Given the description of an element on the screen output the (x, y) to click on. 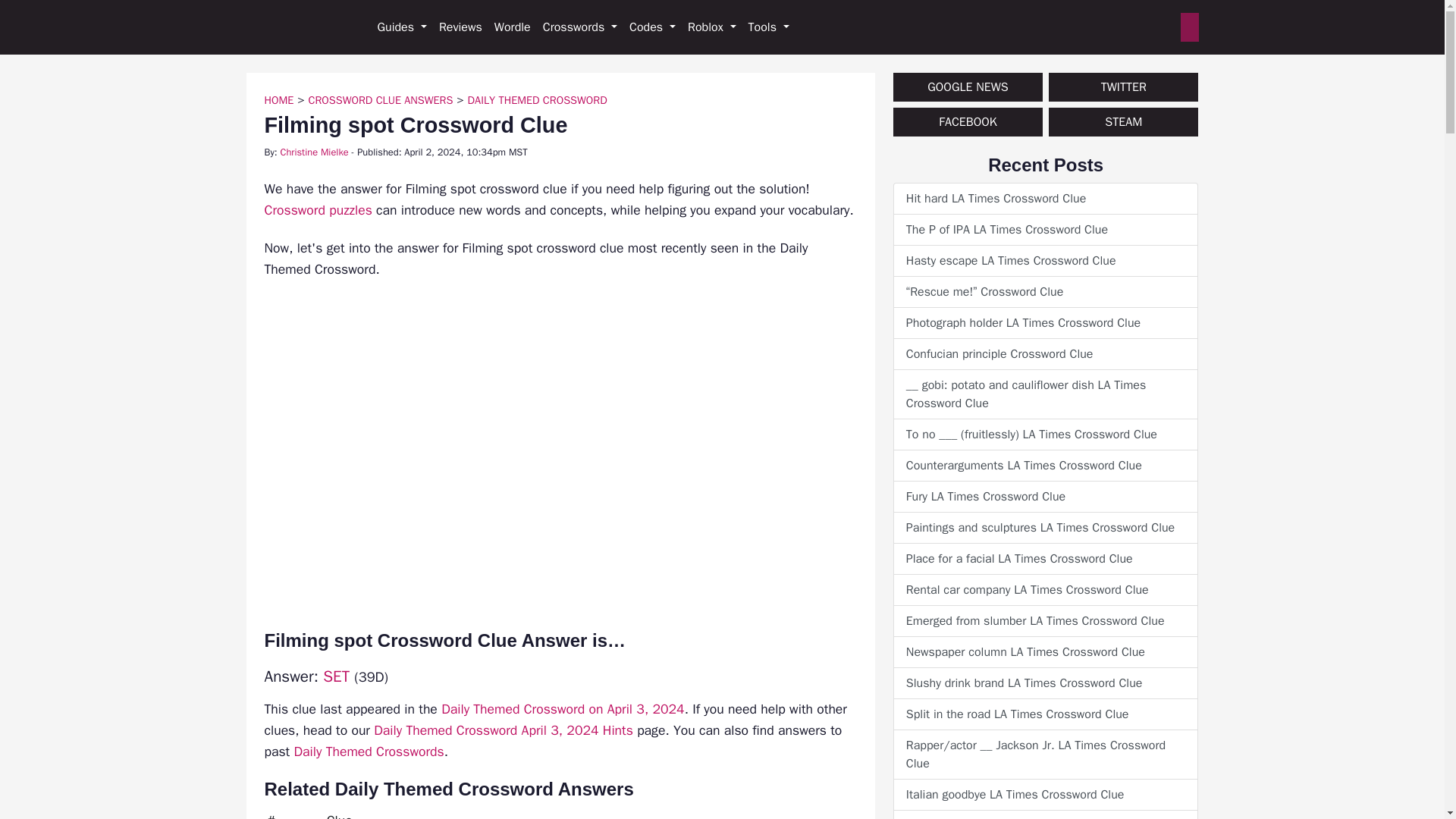
Guides (401, 27)
Roblox (711, 27)
Codes (652, 27)
Reviews (459, 27)
Crosswords (580, 27)
Wordle (512, 27)
Try Hard Guides (298, 27)
